Given the description of an element on the screen output the (x, y) to click on. 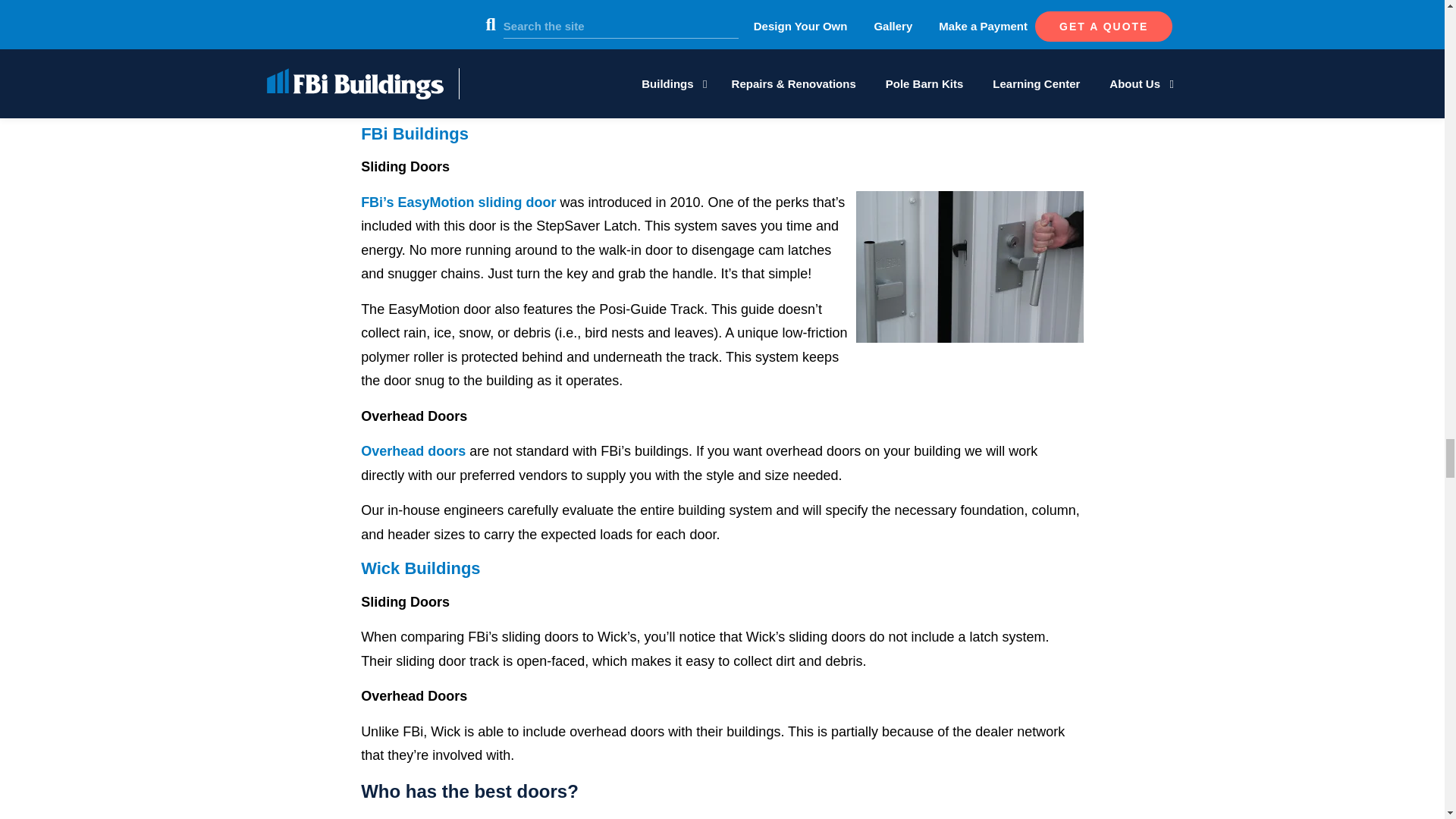
Pole Barn Foundation Options (722, 34)
